Given the description of an element on the screen output the (x, y) to click on. 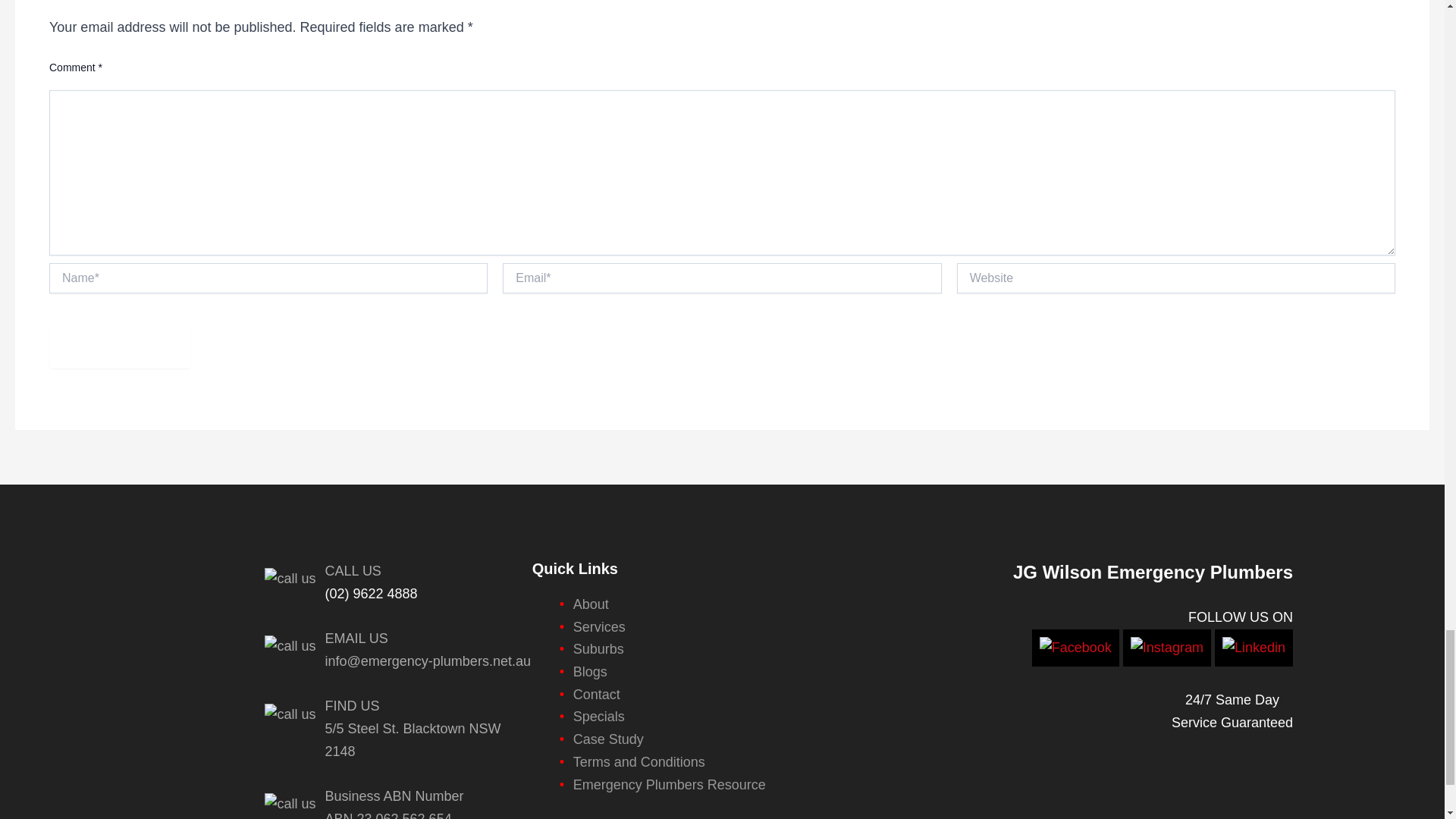
Post Comment (119, 346)
